Given the description of an element on the screen output the (x, y) to click on. 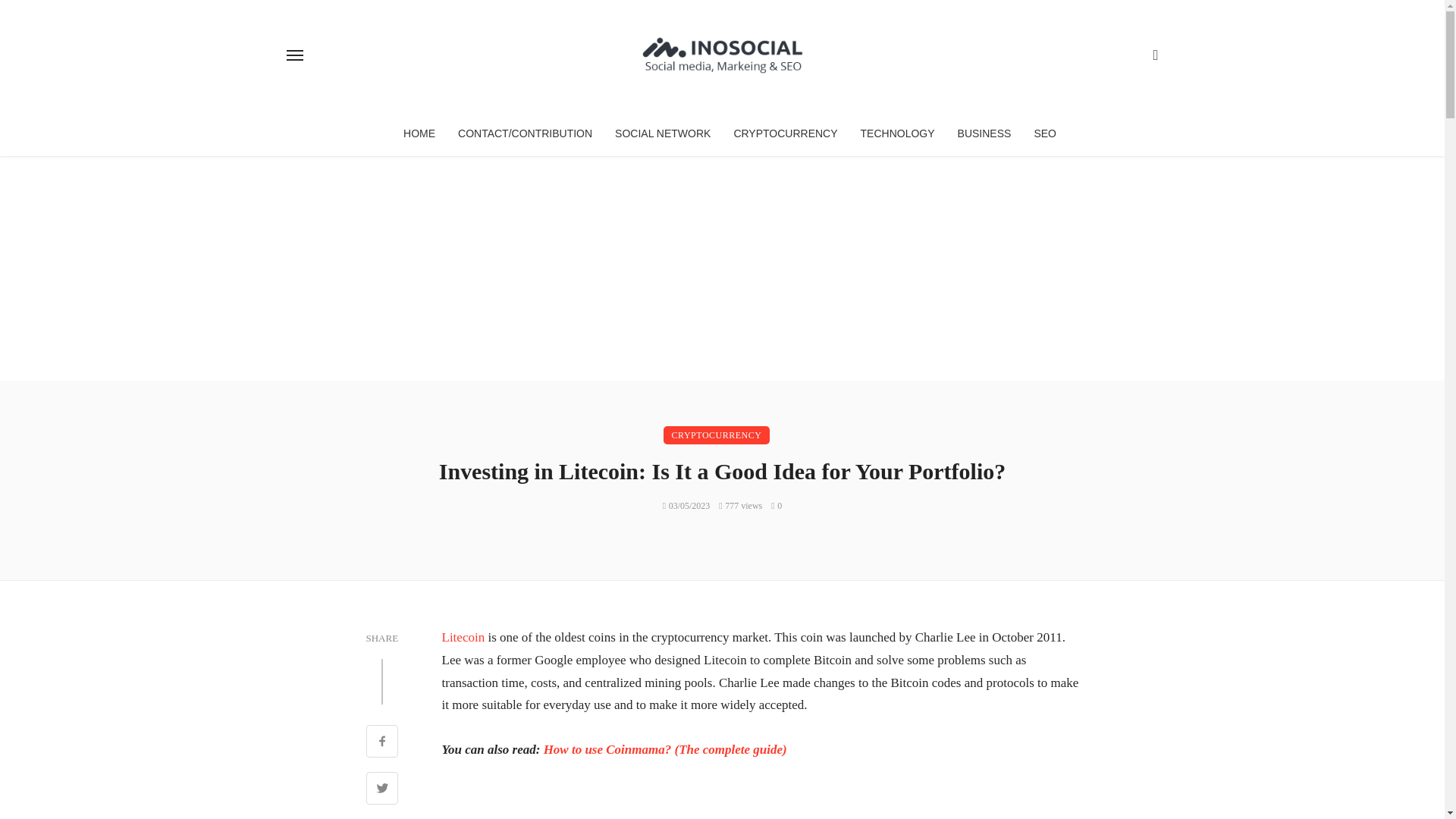
Share on Facebook (381, 742)
BUSINESS (984, 133)
0 Comments (776, 505)
SEO (1044, 133)
TECHNOLOGY (897, 133)
March 5, 2023 at 7:30 am (686, 505)
HOME (418, 133)
0 (776, 505)
Advertisement (759, 800)
